Given the description of an element on the screen output the (x, y) to click on. 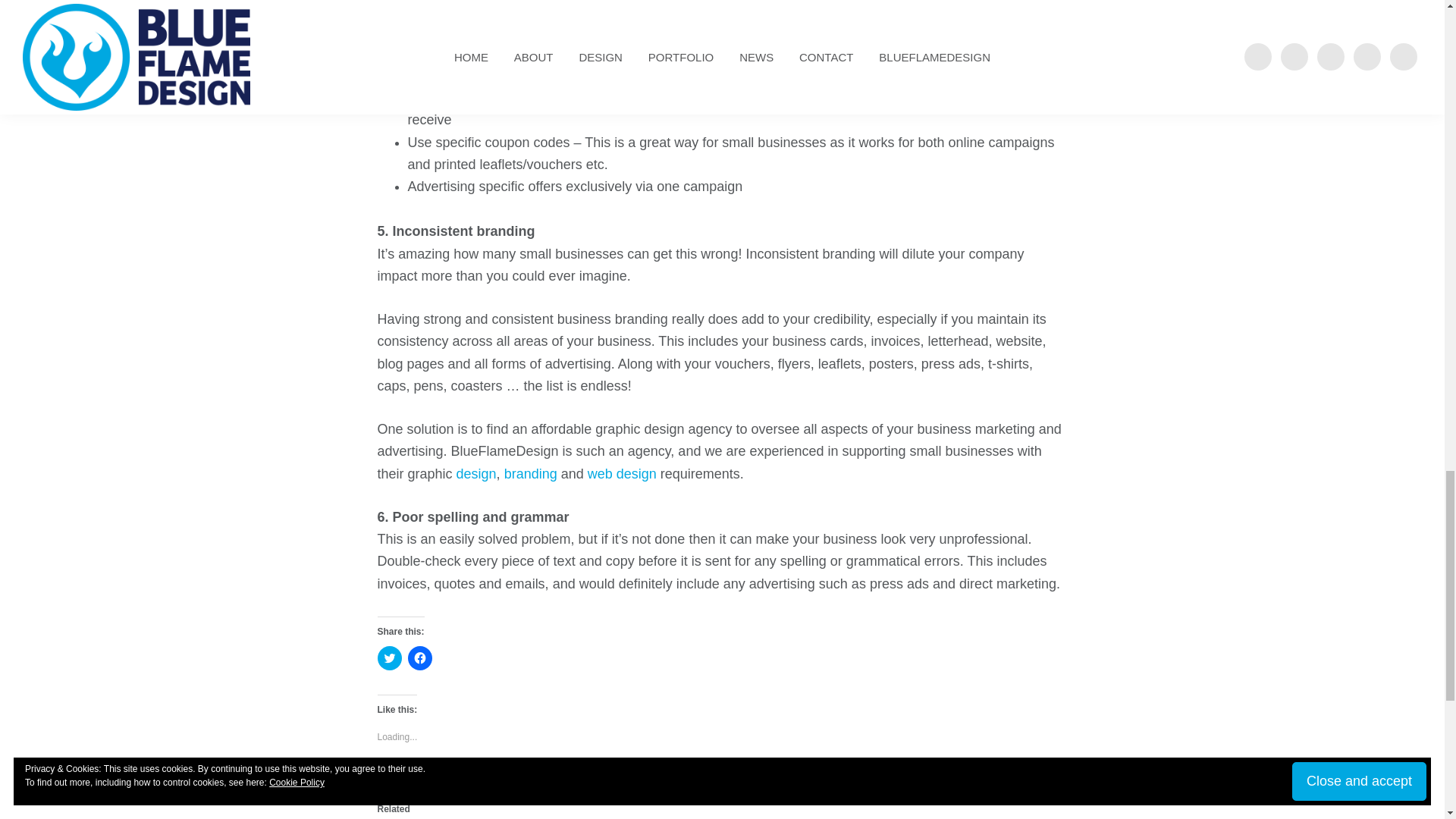
Click to share on Facebook (419, 658)
Click to share on Twitter (389, 658)
branding (530, 473)
web design (622, 473)
design (476, 473)
